Given the description of an element on the screen output the (x, y) to click on. 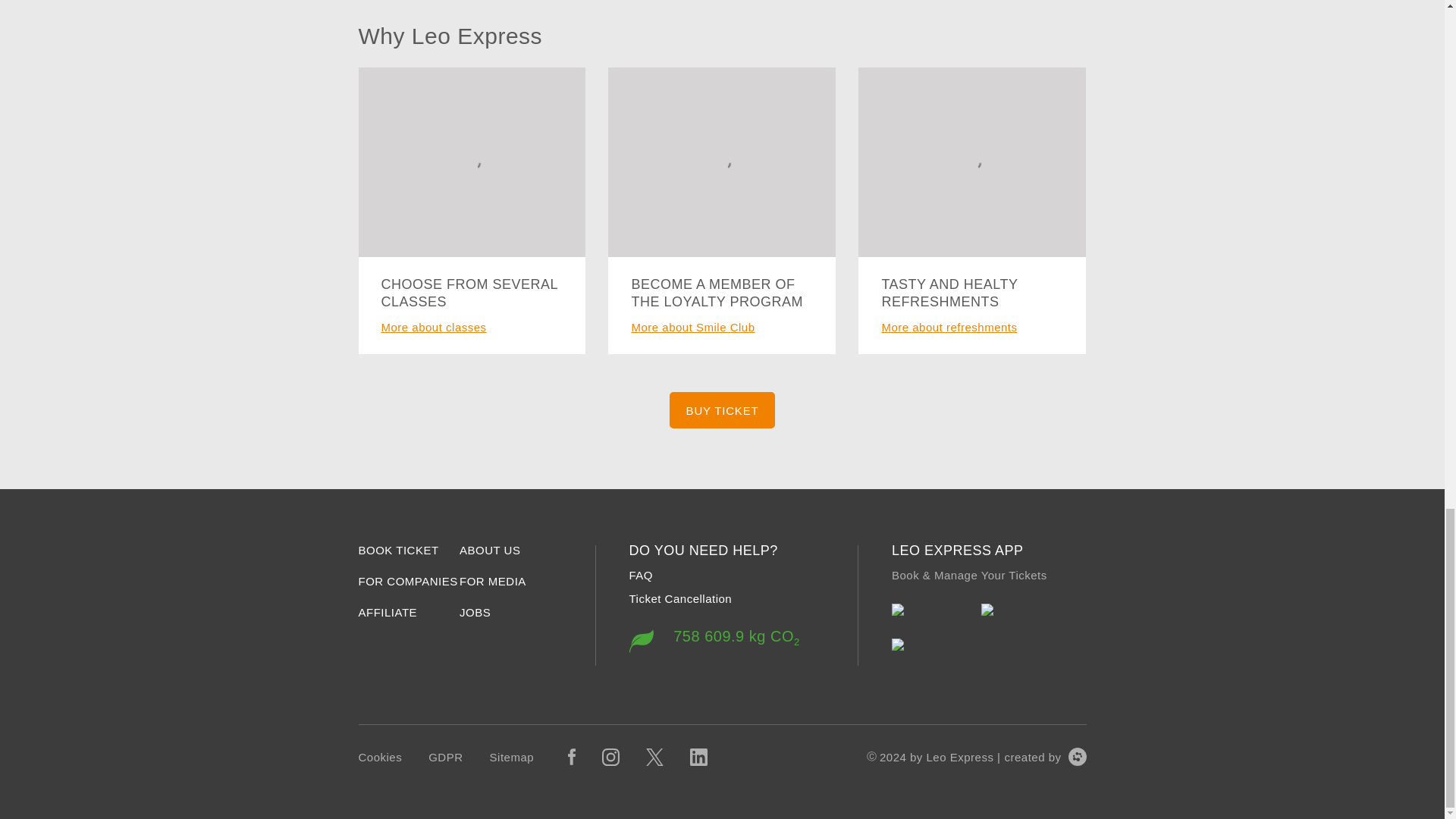
JOBS (726, 635)
AFFILIATE (475, 611)
GDPR (387, 611)
Cookies (445, 756)
BUY TICKET (379, 756)
FOR MEDIA (722, 410)
Sitemap (492, 580)
ABOUT US (511, 756)
BOOK TICKET (489, 549)
Ticket Cancellation (398, 549)
FAQ (680, 598)
FOR COMPANIES (640, 575)
